Given the description of an element on the screen output the (x, y) to click on. 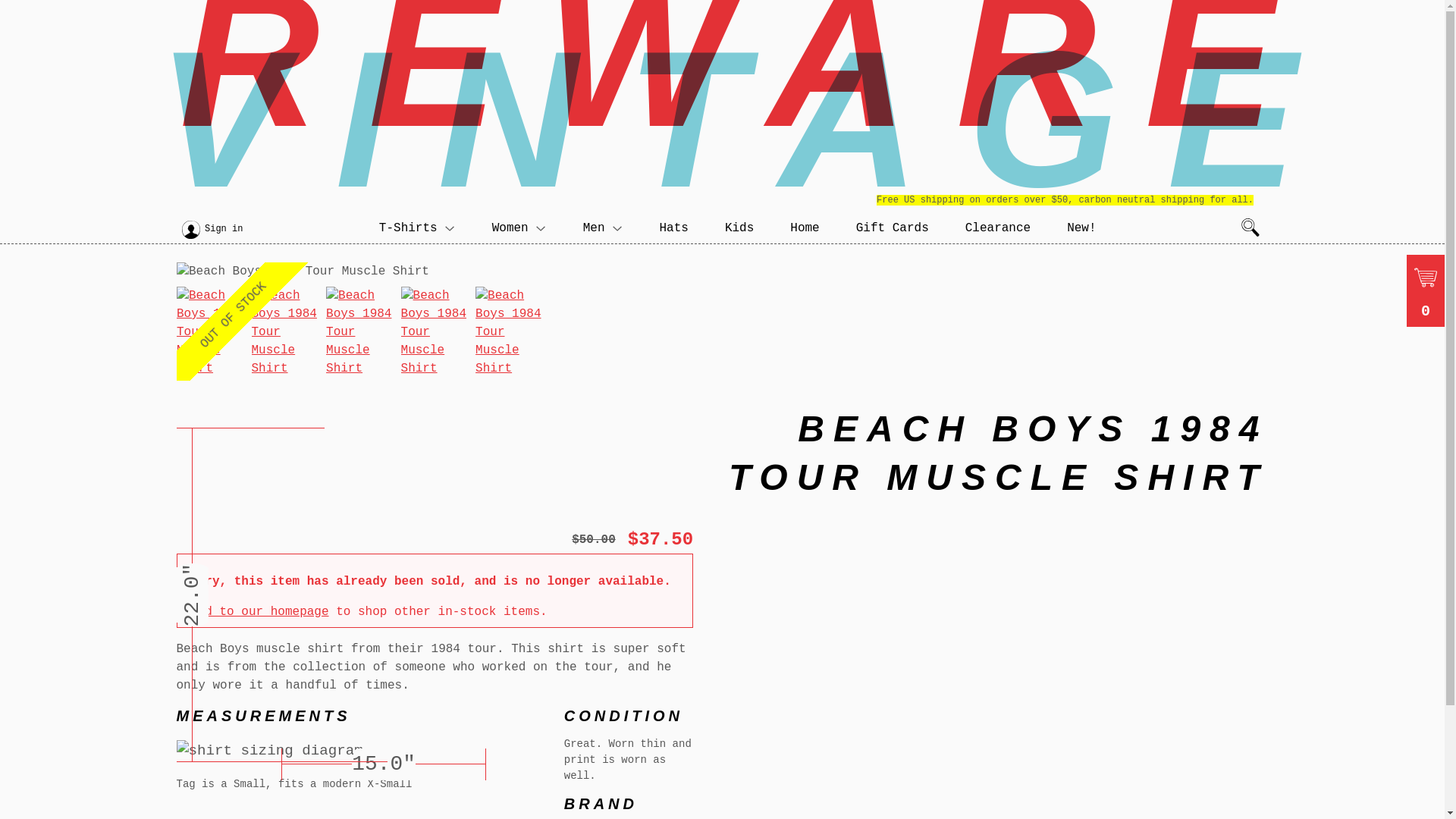
Pit to pit (383, 764)
Sign in (224, 229)
Top of neck to bottom hem (343, 443)
T-Shirts (417, 228)
Women (519, 228)
